Given the description of an element on the screen output the (x, y) to click on. 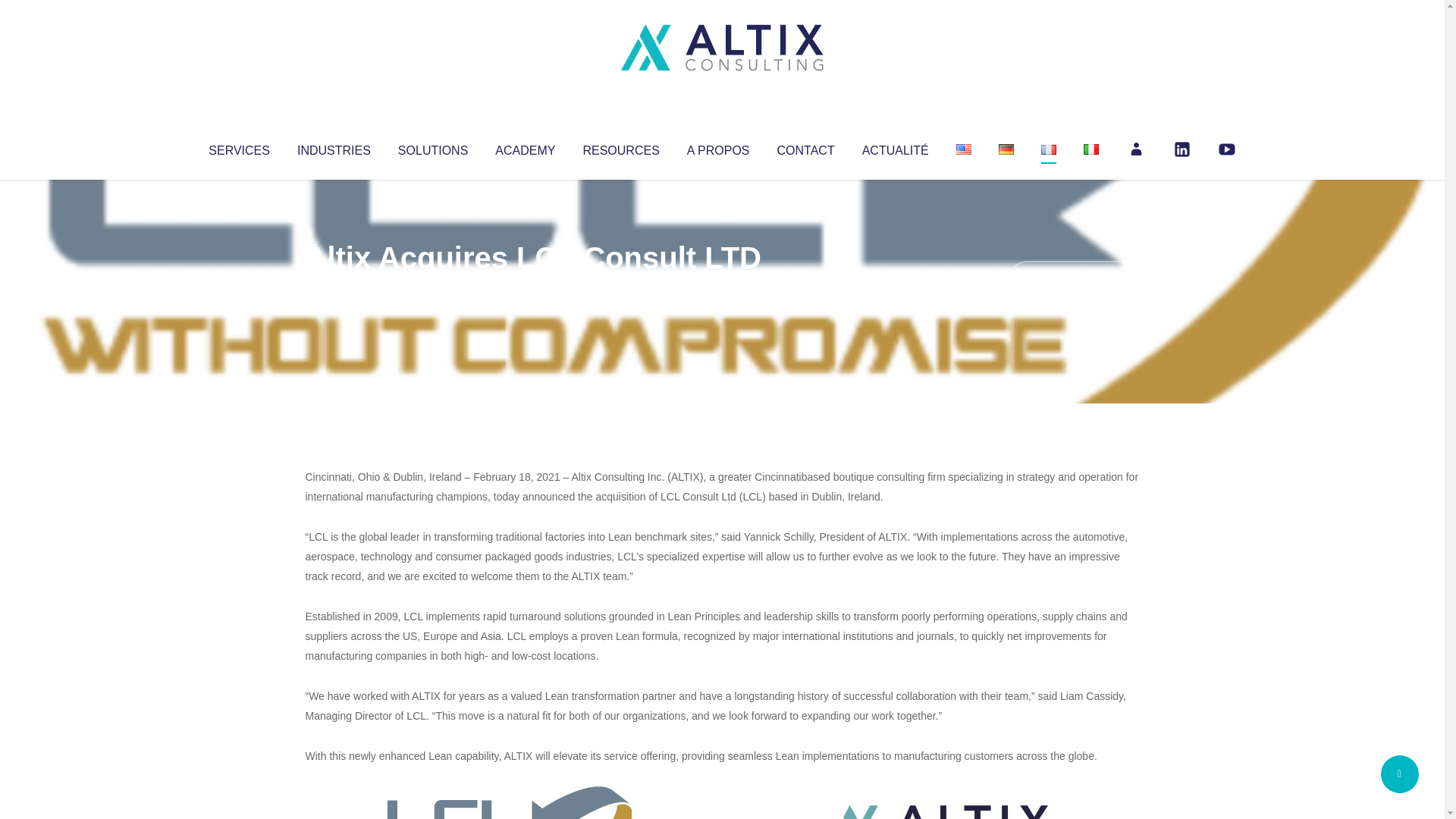
RESOURCES (620, 146)
INDUSTRIES (334, 146)
A PROPOS (718, 146)
SOLUTIONS (432, 146)
SERVICES (238, 146)
Uncategorized (530, 287)
No Comments (1073, 278)
ACADEMY (524, 146)
Articles par Altix (333, 287)
Altix (333, 287)
